Given the description of an element on the screen output the (x, y) to click on. 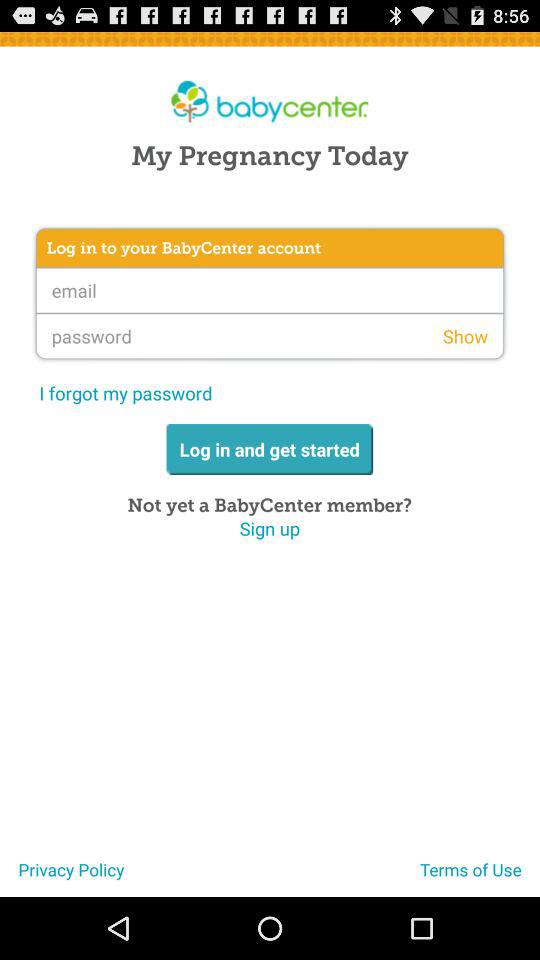
choose the app at the bottom right corner (480, 877)
